Given the description of an element on the screen output the (x, y) to click on. 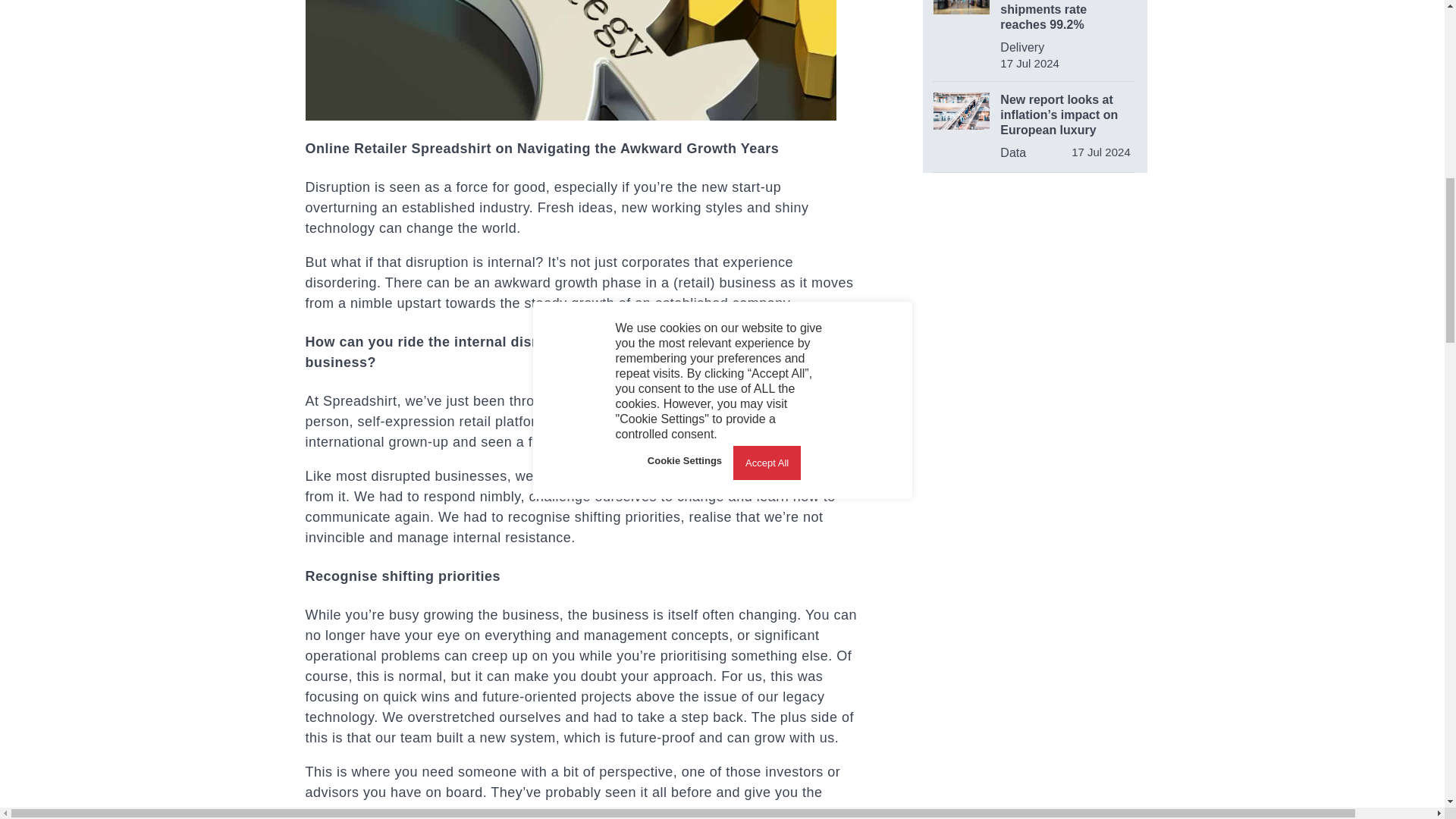
3rd party ad content (1035, 502)
3rd party ad content (1034, 289)
